Given the description of an element on the screen output the (x, y) to click on. 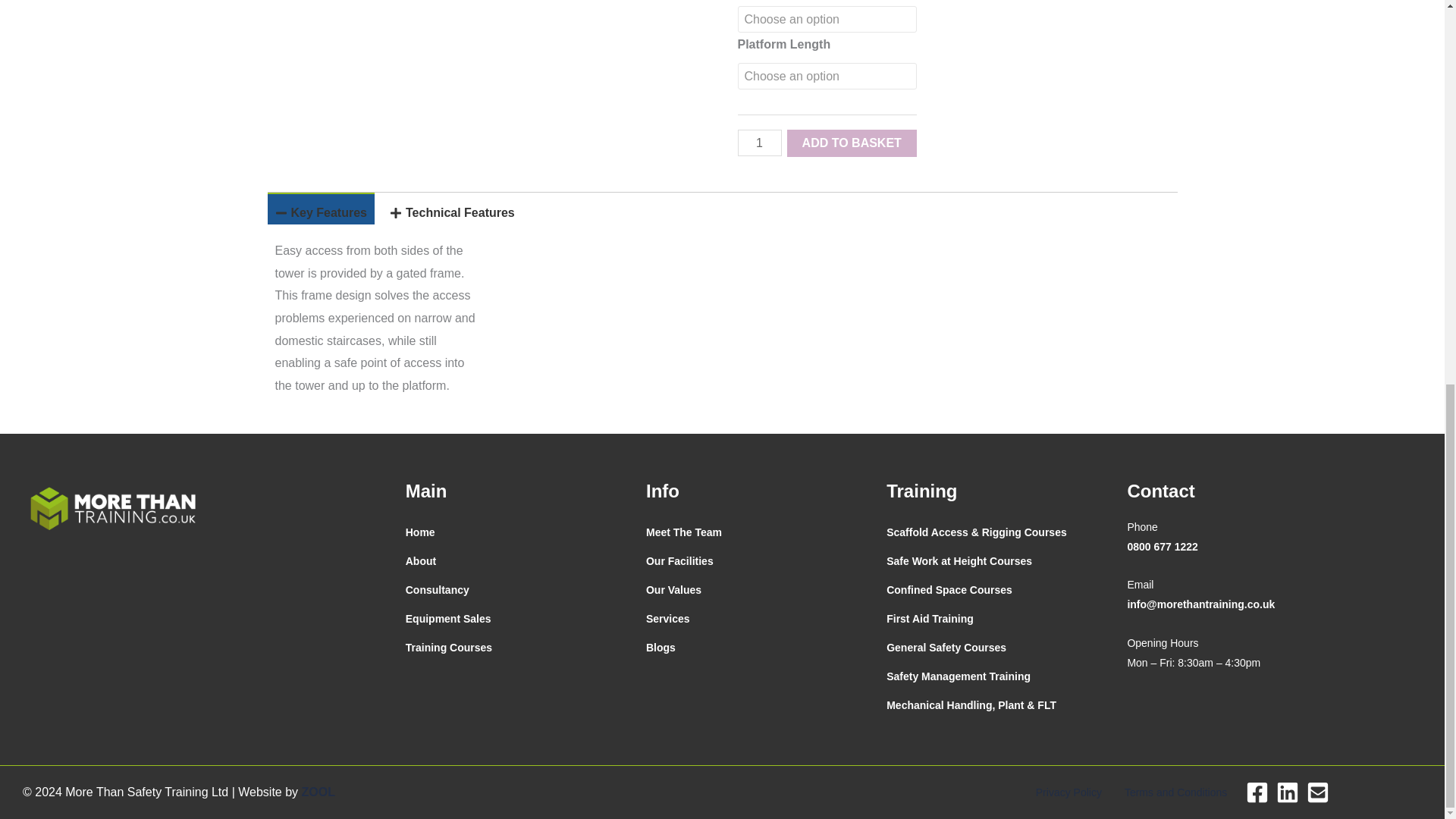
1 (758, 142)
